Given the description of an element on the screen output the (x, y) to click on. 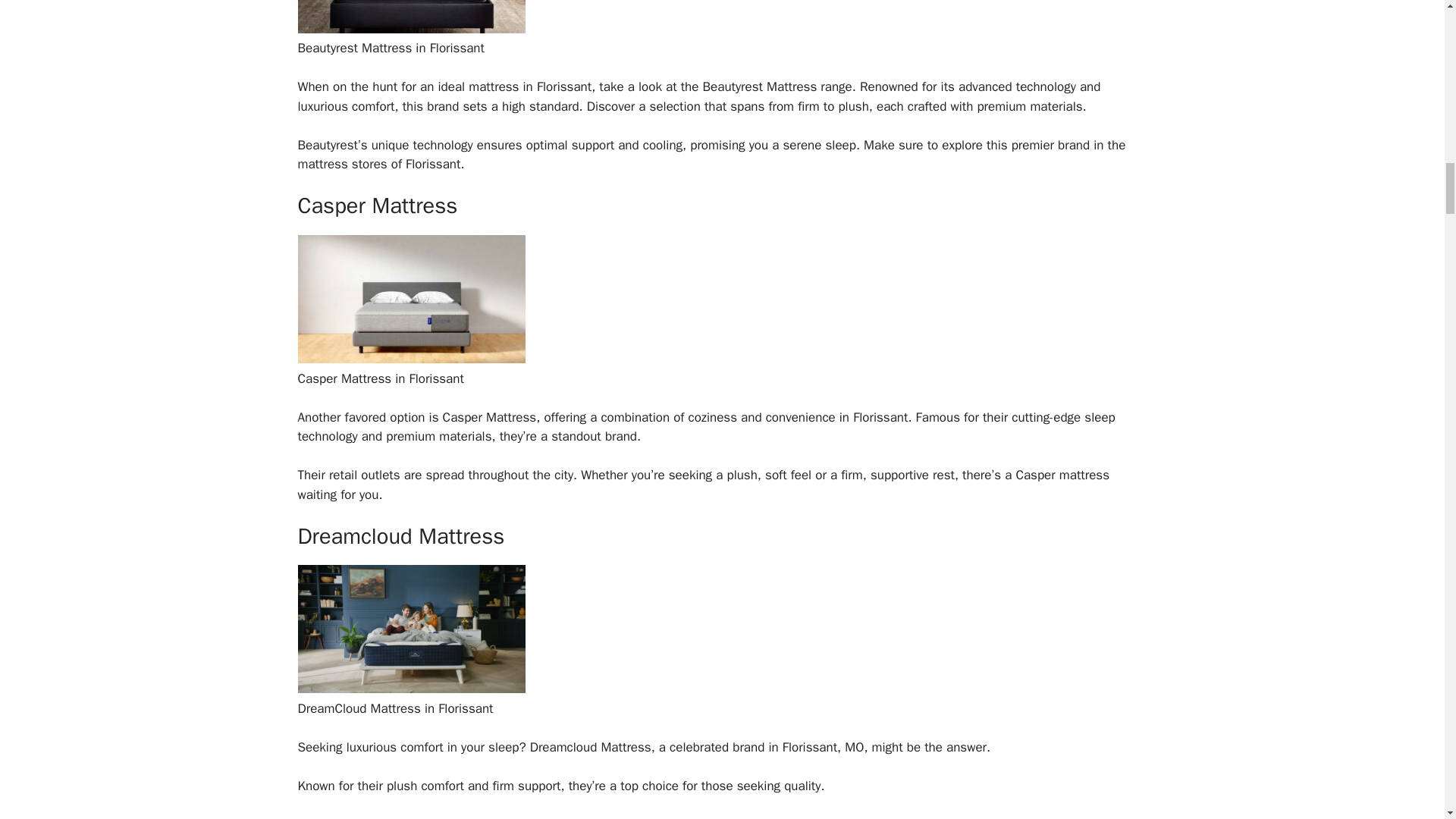
DreamCloud Mattress Near Me in Florissant (410, 688)
Casper Mattress Florissant (410, 358)
Beautyrest Mattress Florissant (410, 28)
